Given the description of an element on the screen output the (x, y) to click on. 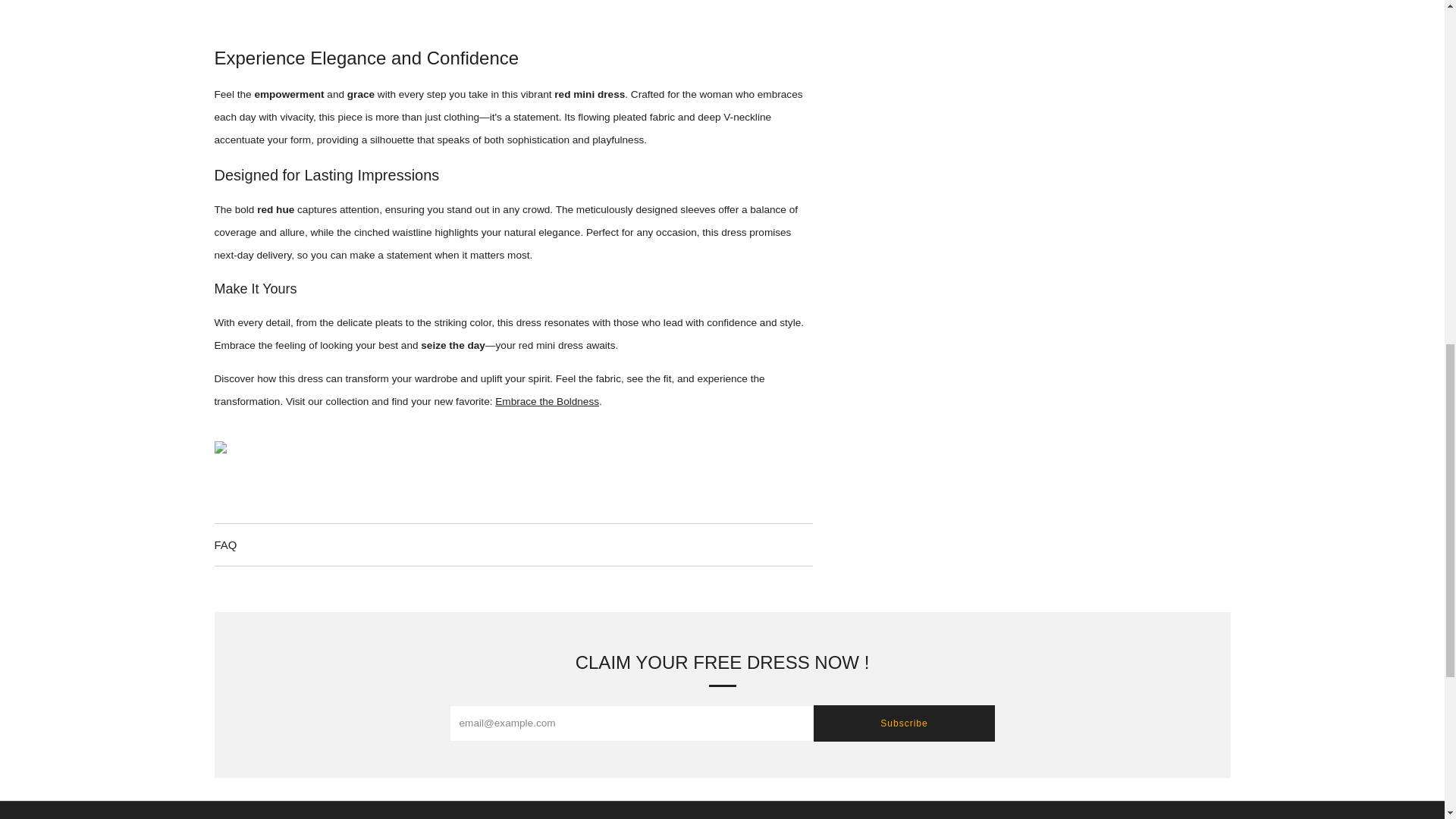
Embrace the Boldness (546, 401)
Subscribe (903, 723)
Embrace the Boldness (546, 401)
